Given the description of an element on the screen output the (x, y) to click on. 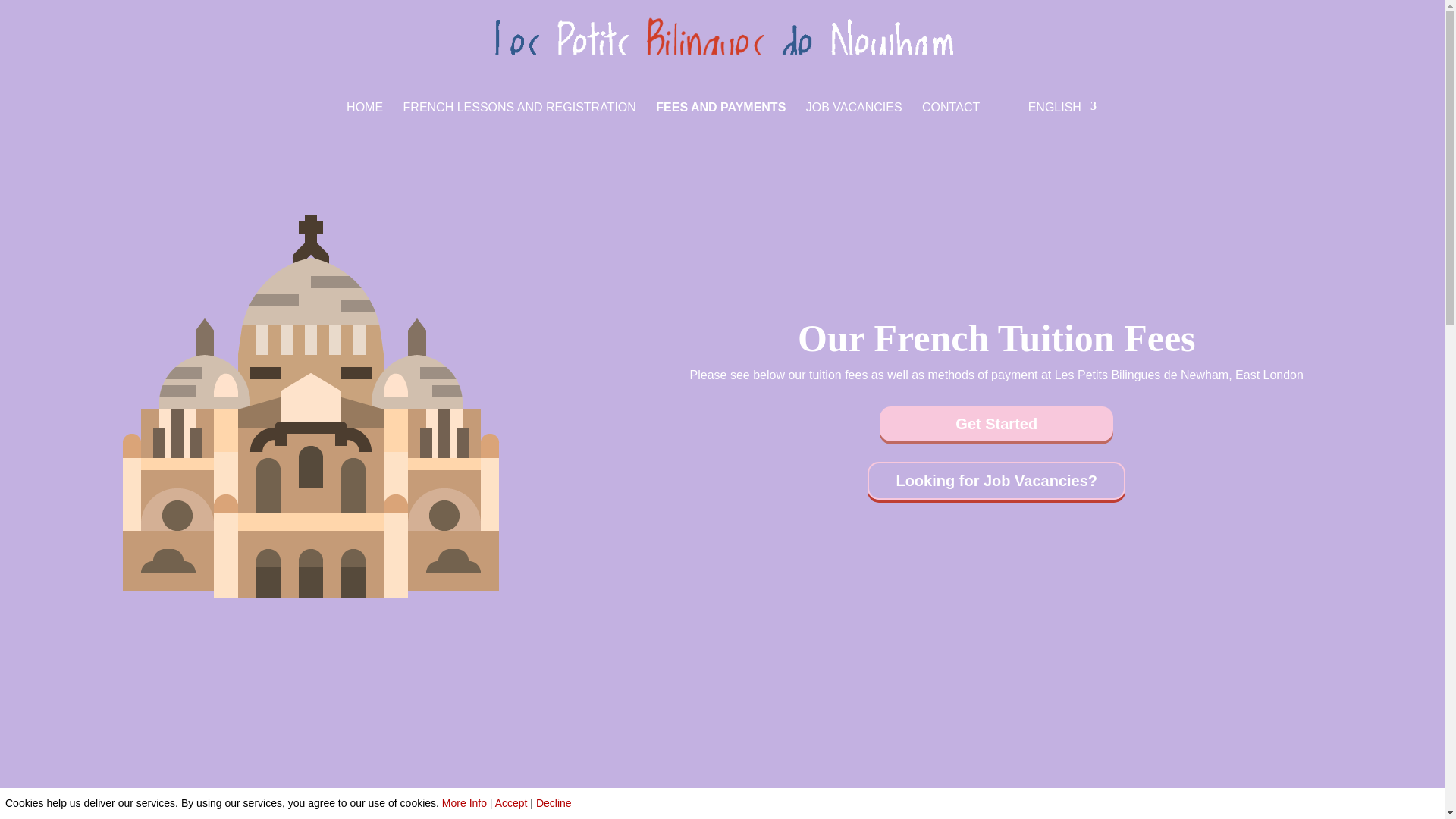
Get Started (996, 423)
FEES AND PAYMENTS (721, 116)
Accept (511, 802)
Decline (553, 802)
English (1048, 116)
ENGLISH (1048, 116)
More Info (464, 802)
CONTACT (950, 116)
JOB VACANCIES (854, 116)
FRENCH LESSONS AND REGISTRATION (519, 116)
HOME (364, 116)
Looking for Job Vacancies? (996, 480)
